Given the description of an element on the screen output the (x, y) to click on. 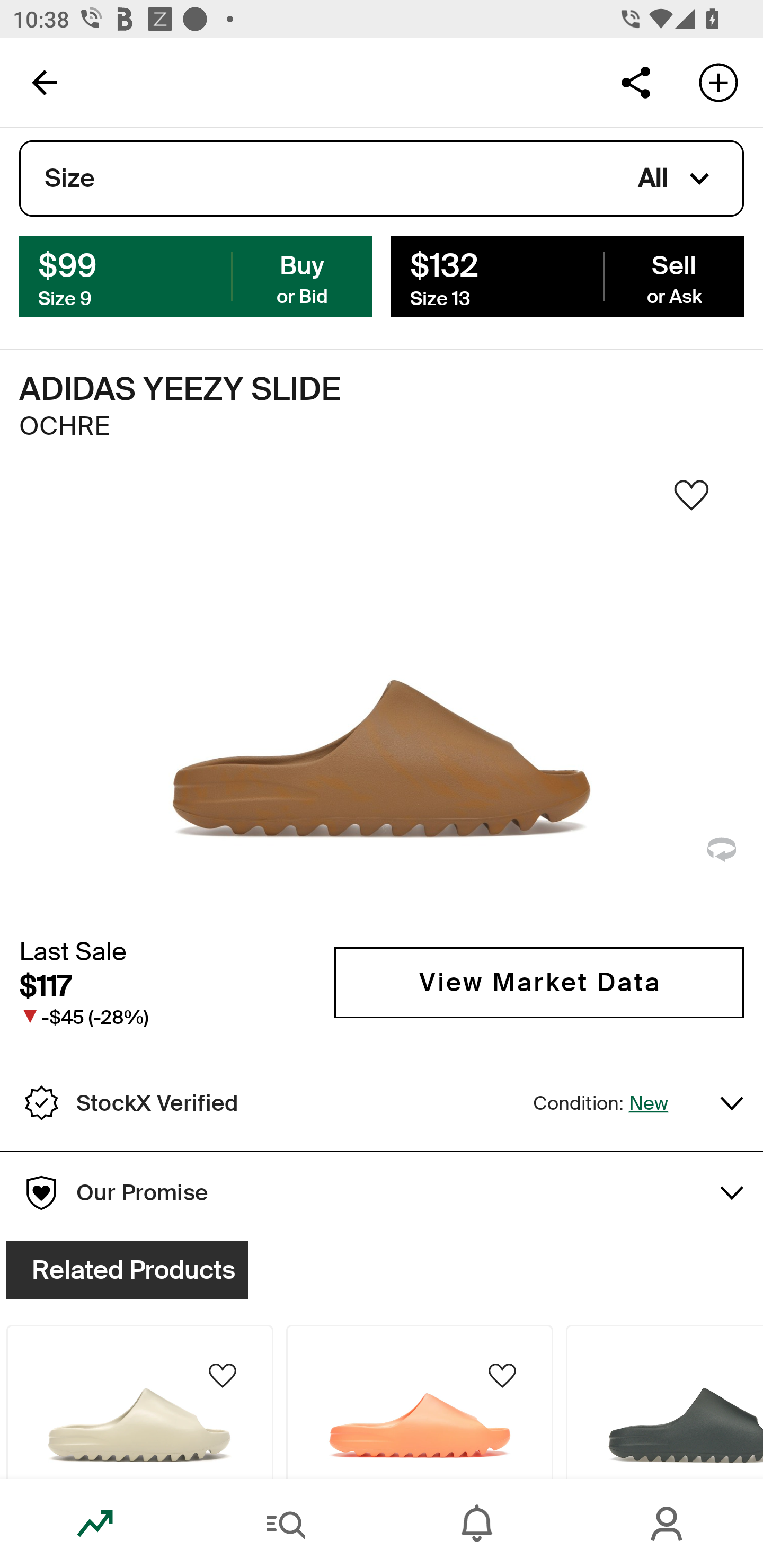
Share (635, 81)
Add (718, 81)
Size All (381, 178)
$82 Buy Size 4 or Bid (195, 275)
$122 Sell Size 15 or Ask (566, 275)
Sneaker Image (381, 699)
View Market Data (538, 982)
Product Image (139, 1401)
Product Image (419, 1401)
Product Image (664, 1401)
Search (285, 1523)
Inbox (476, 1523)
Account (667, 1523)
